Given the description of an element on the screen output the (x, y) to click on. 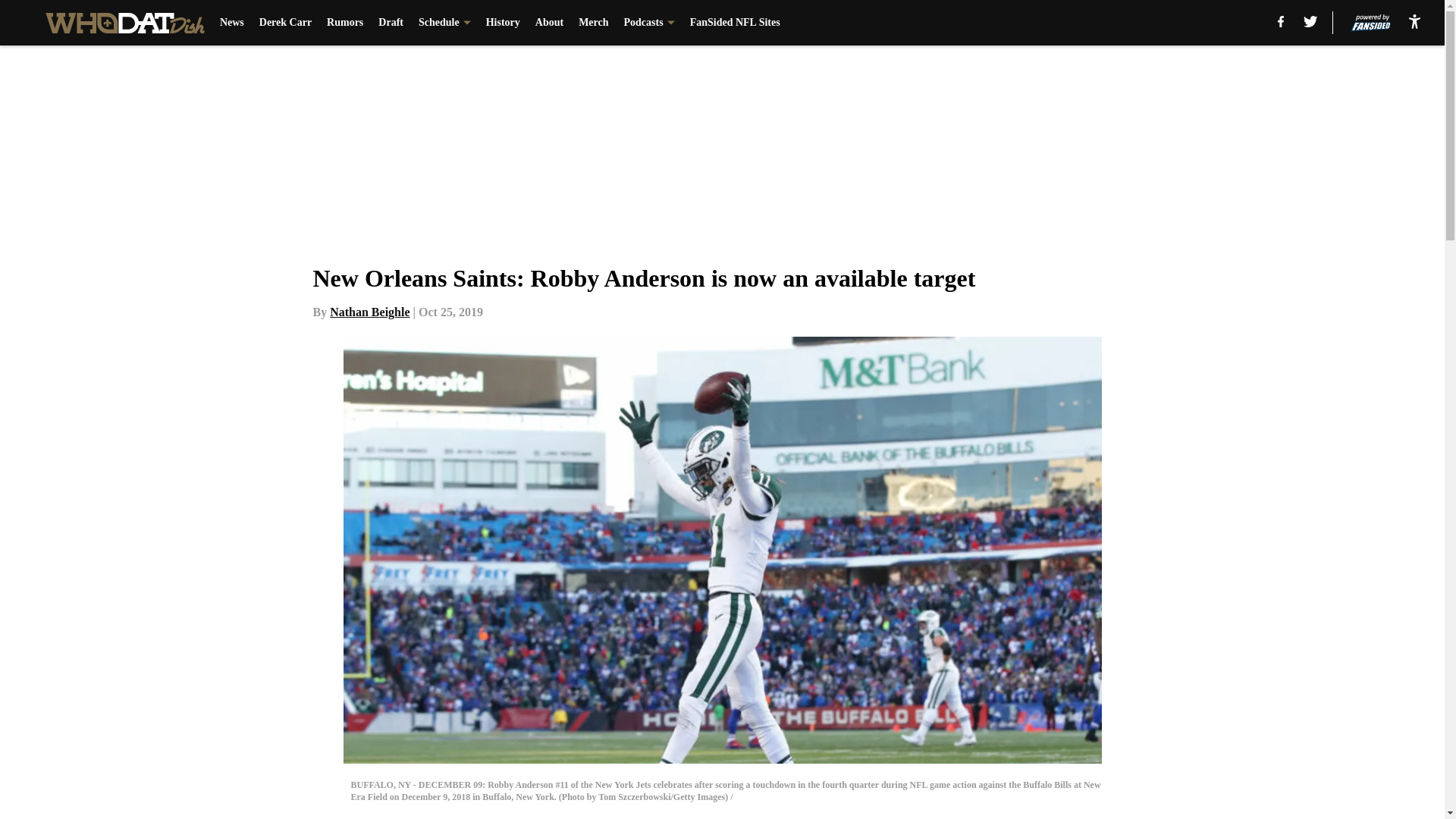
News (231, 22)
FanSided NFL Sites (735, 22)
Derek Carr (285, 22)
Nathan Beighle (369, 311)
Draft (390, 22)
Merch (593, 22)
Rumors (344, 22)
History (502, 22)
About (549, 22)
